Given the description of an element on the screen output the (x, y) to click on. 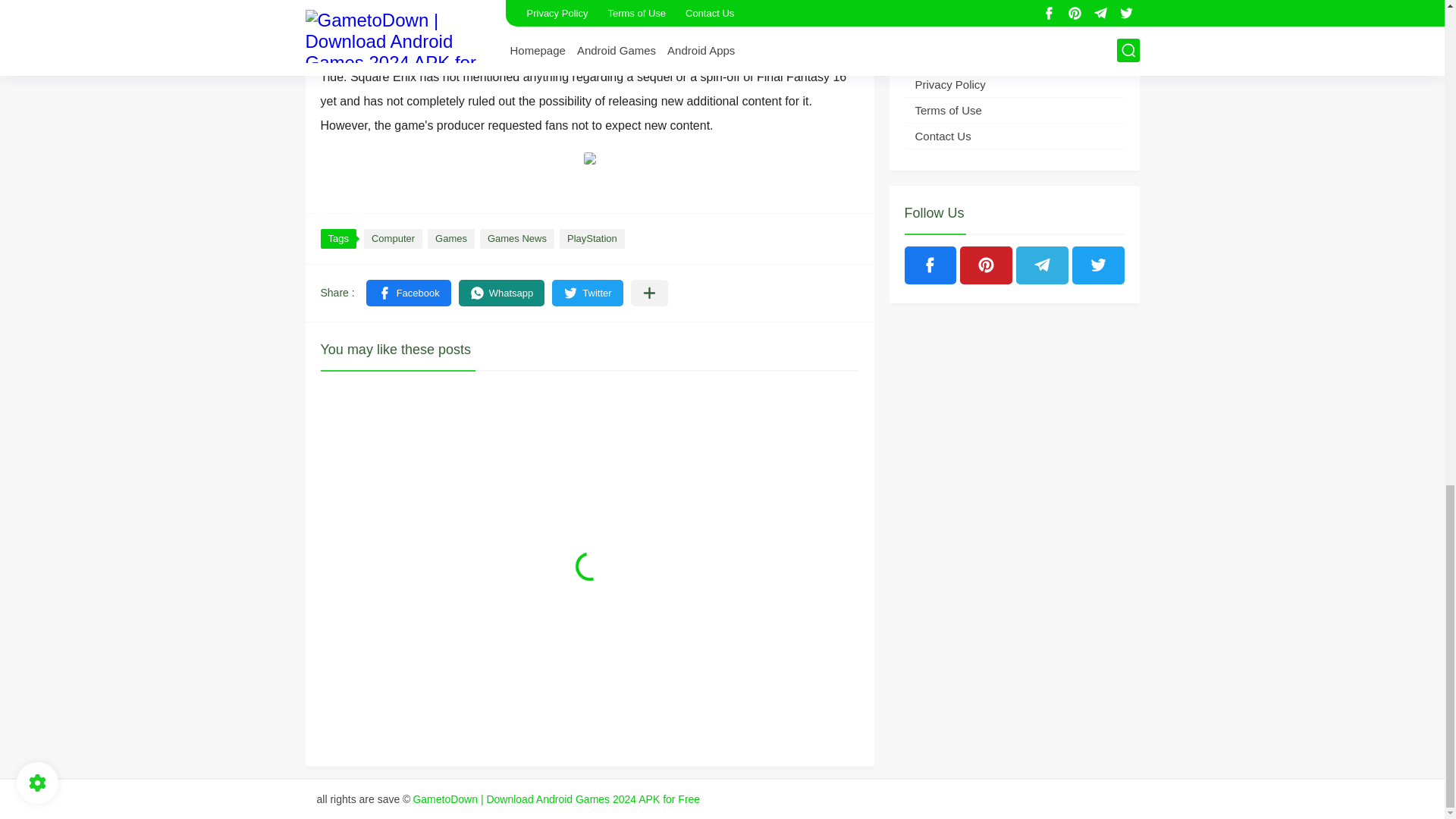
Games (451, 238)
Computer (393, 238)
Games News (517, 238)
Games News (517, 238)
PlayStation (591, 238)
Games (451, 238)
Computer (393, 238)
PlayStation (591, 238)
